Given the description of an element on the screen output the (x, y) to click on. 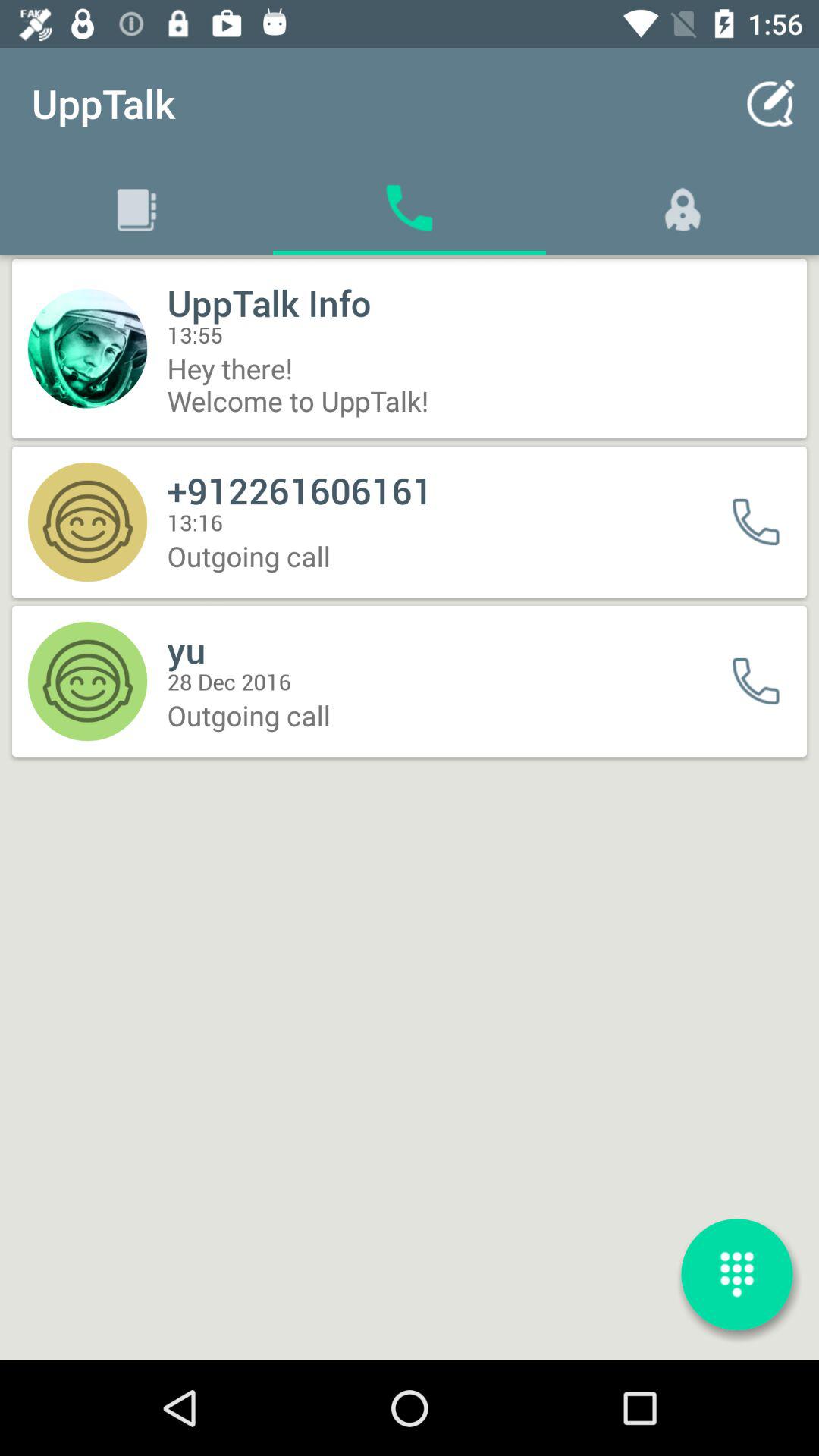
display keypad (737, 1274)
